Given the description of an element on the screen output the (x, y) to click on. 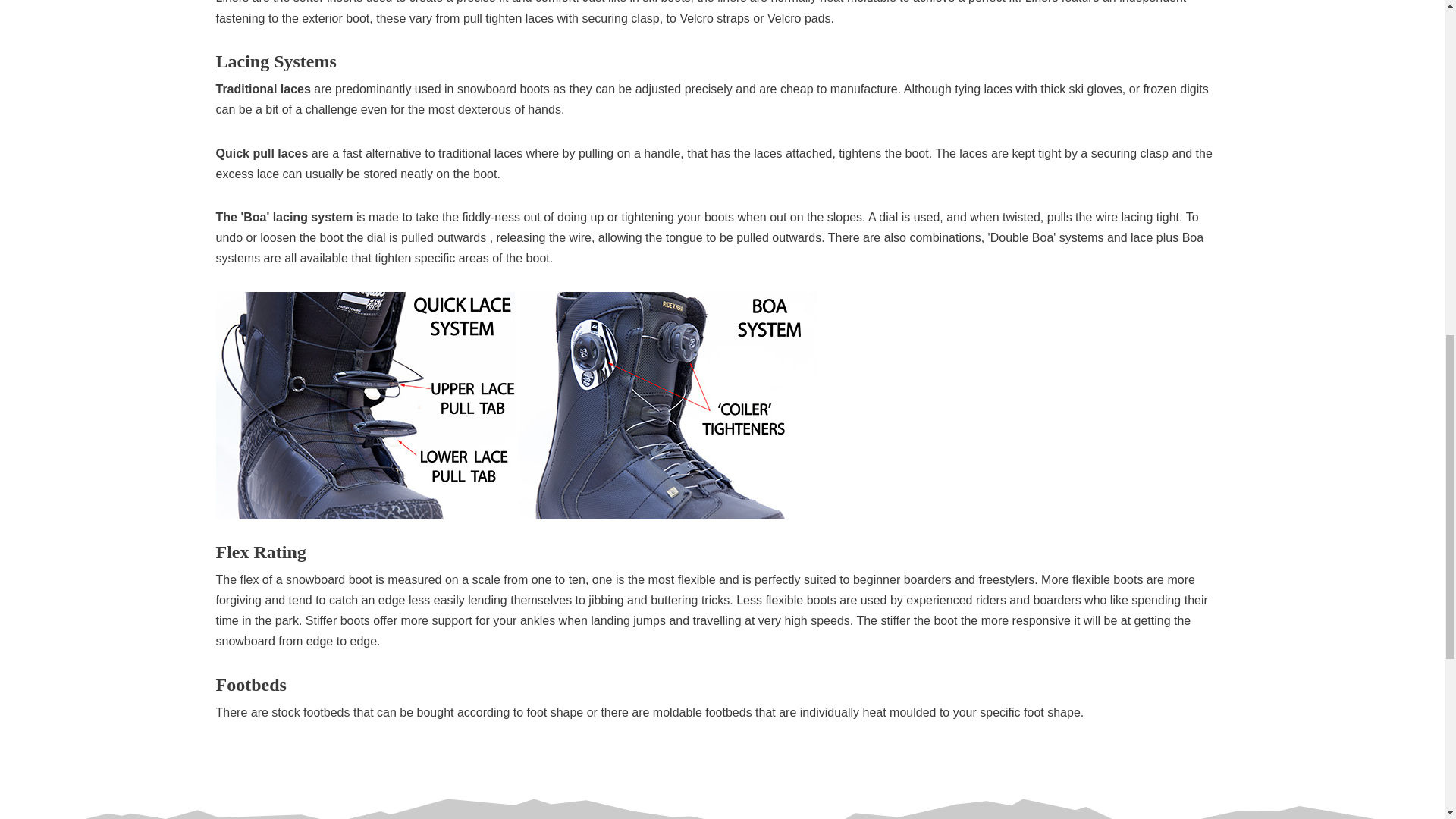
Boa System (667, 404)
Quick Lace Snowboard Boot (364, 404)
